Given the description of an element on the screen output the (x, y) to click on. 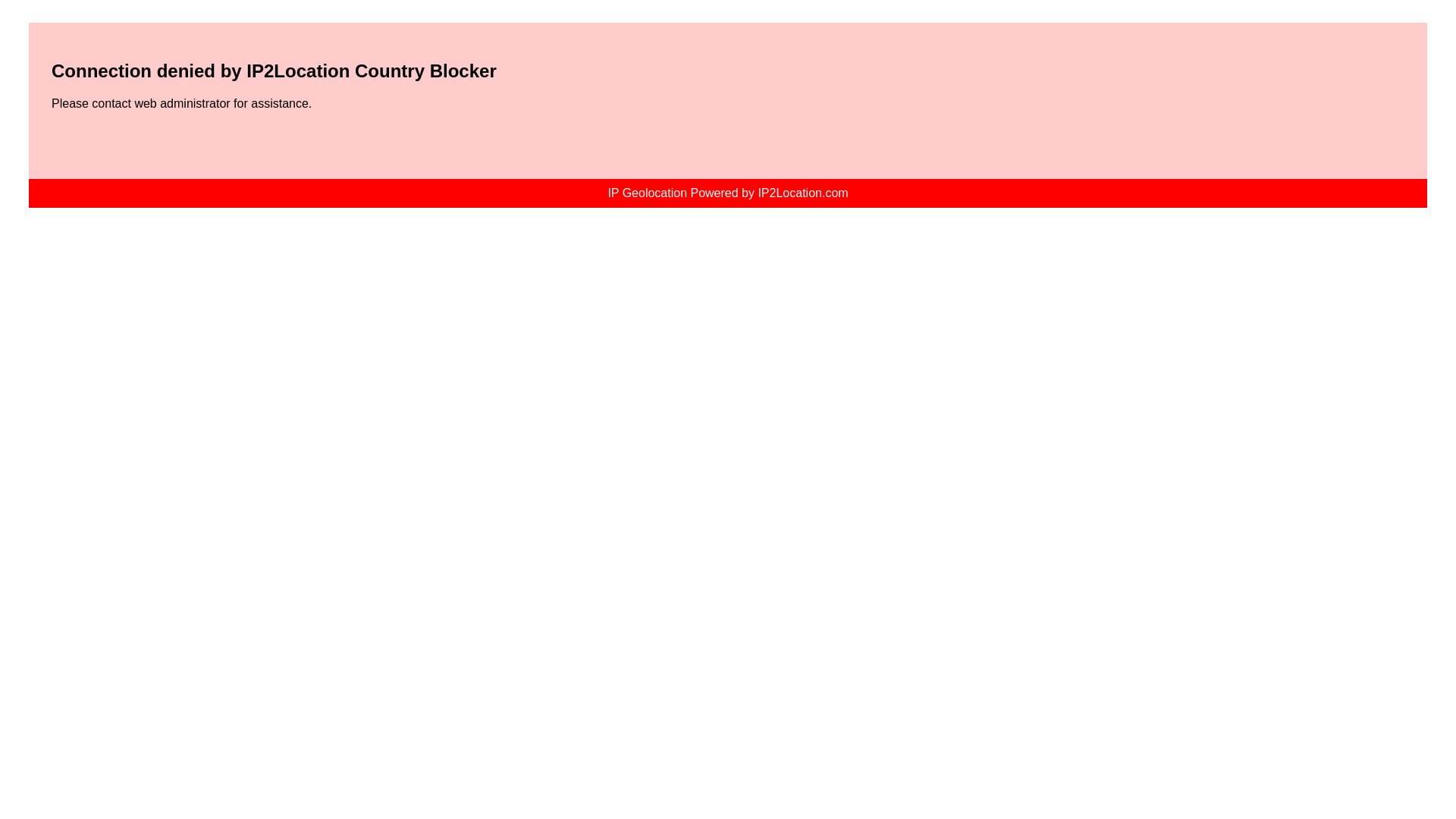
IP Geolocation Powered by IP2Location.com (727, 192)
